Given the description of an element on the screen output the (x, y) to click on. 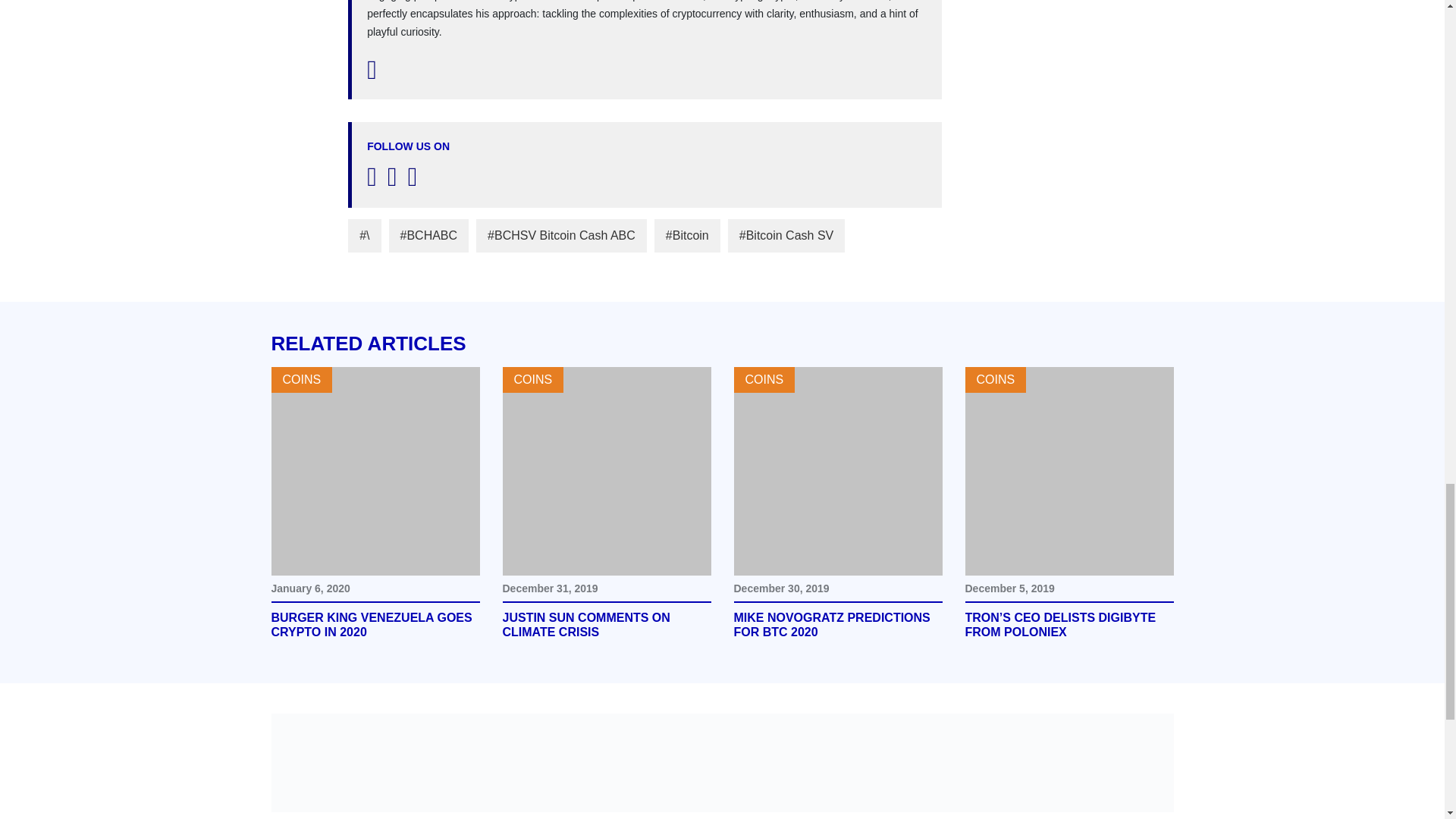
Burger King Venezuela Goes Crypto in 2020 (375, 470)
Justin Sun Comments on Climate Crisis (606, 470)
Mike Novogratz Predictions for BTC 2020 (837, 625)
Mike Novogratz Predictions for BTC 2020 (837, 470)
Justin Sun Comments on Climate Crisis (606, 625)
Burger King Venezuela Goes Crypto in 2020 (375, 625)
